Given the description of an element on the screen output the (x, y) to click on. 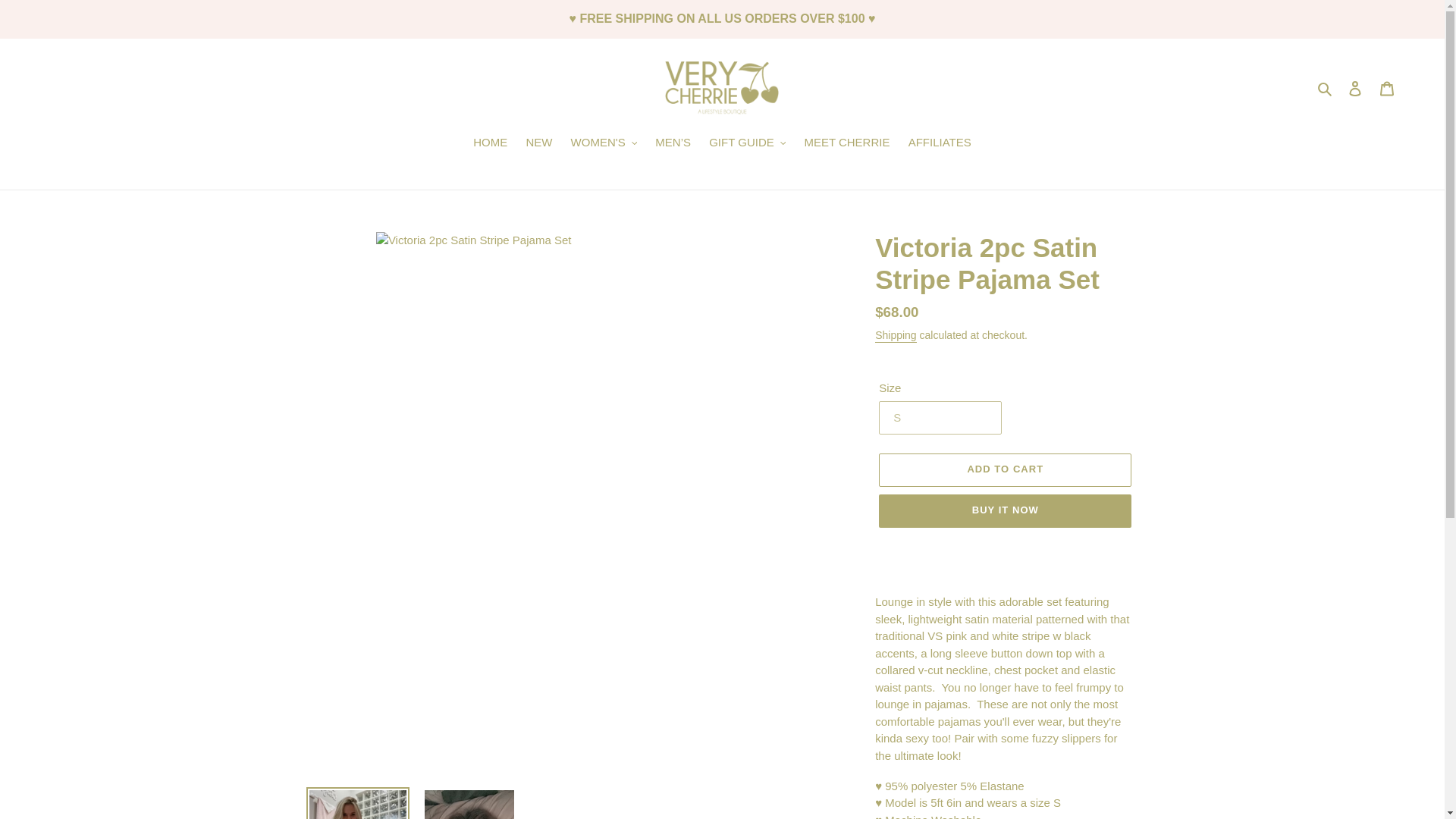
Log in (1355, 88)
Cart (1387, 88)
Search (1326, 87)
